Given the description of an element on the screen output the (x, y) to click on. 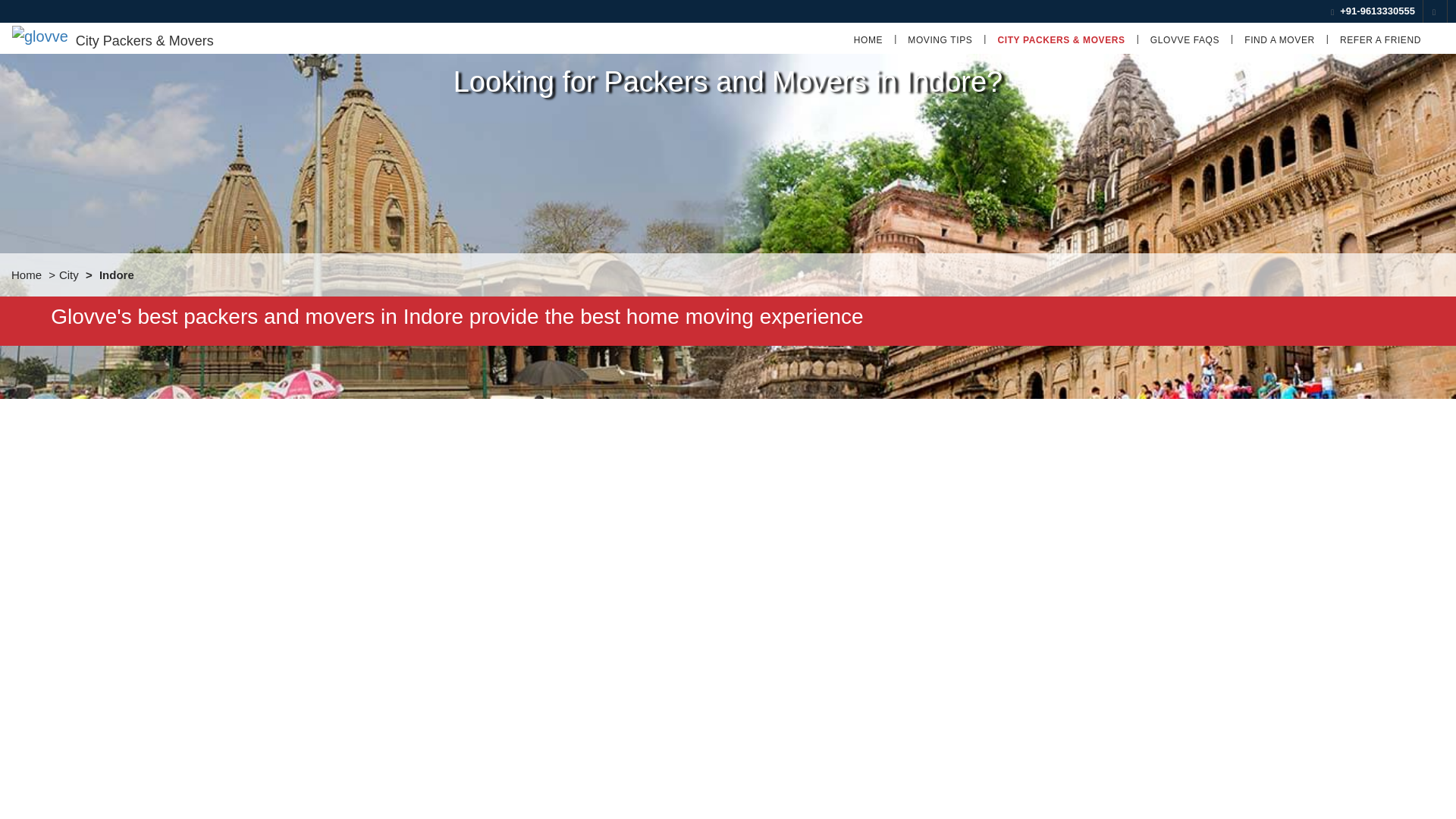
REFER A FRIEND (1379, 39)
Home (26, 274)
FIND A MOVER (1279, 39)
MOVING TIPS (940, 39)
GLOVVE FAQS (1184, 39)
City (68, 274)
HOME (868, 39)
